Given the description of an element on the screen output the (x, y) to click on. 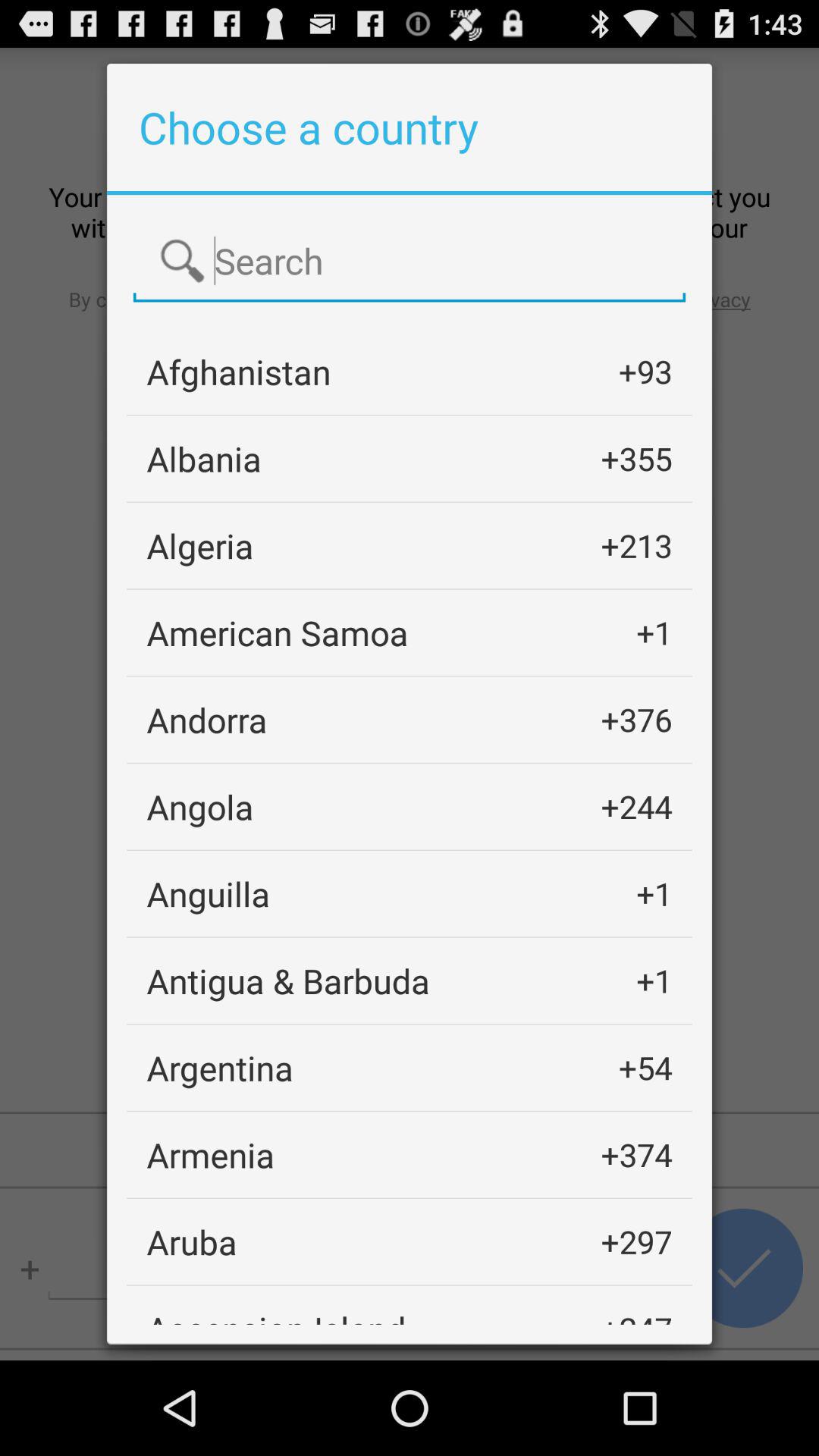
open the item to the left of +374 item (210, 1154)
